Given the description of an element on the screen output the (x, y) to click on. 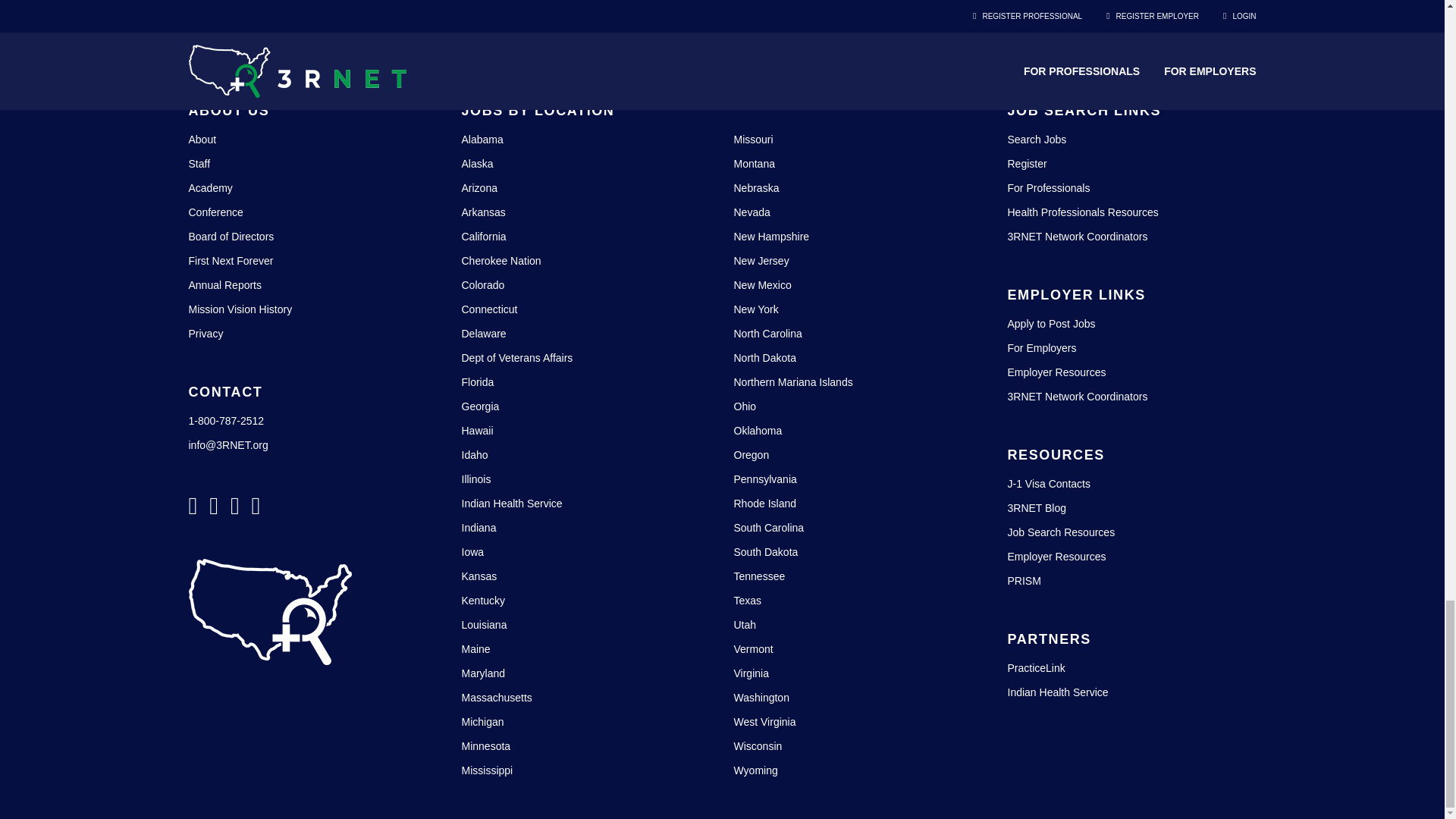
Mission Vision History (239, 309)
Annual Reports (224, 285)
Board of Directors (230, 236)
Alaska (477, 163)
About (201, 139)
Arizona (478, 187)
Alabama (481, 139)
1-800-787-2512 (225, 420)
Arkansas (483, 212)
First Next Forever (230, 260)
Academy (209, 187)
Conference (215, 212)
Privacy (204, 333)
Staff (198, 163)
